Given the description of an element on the screen output the (x, y) to click on. 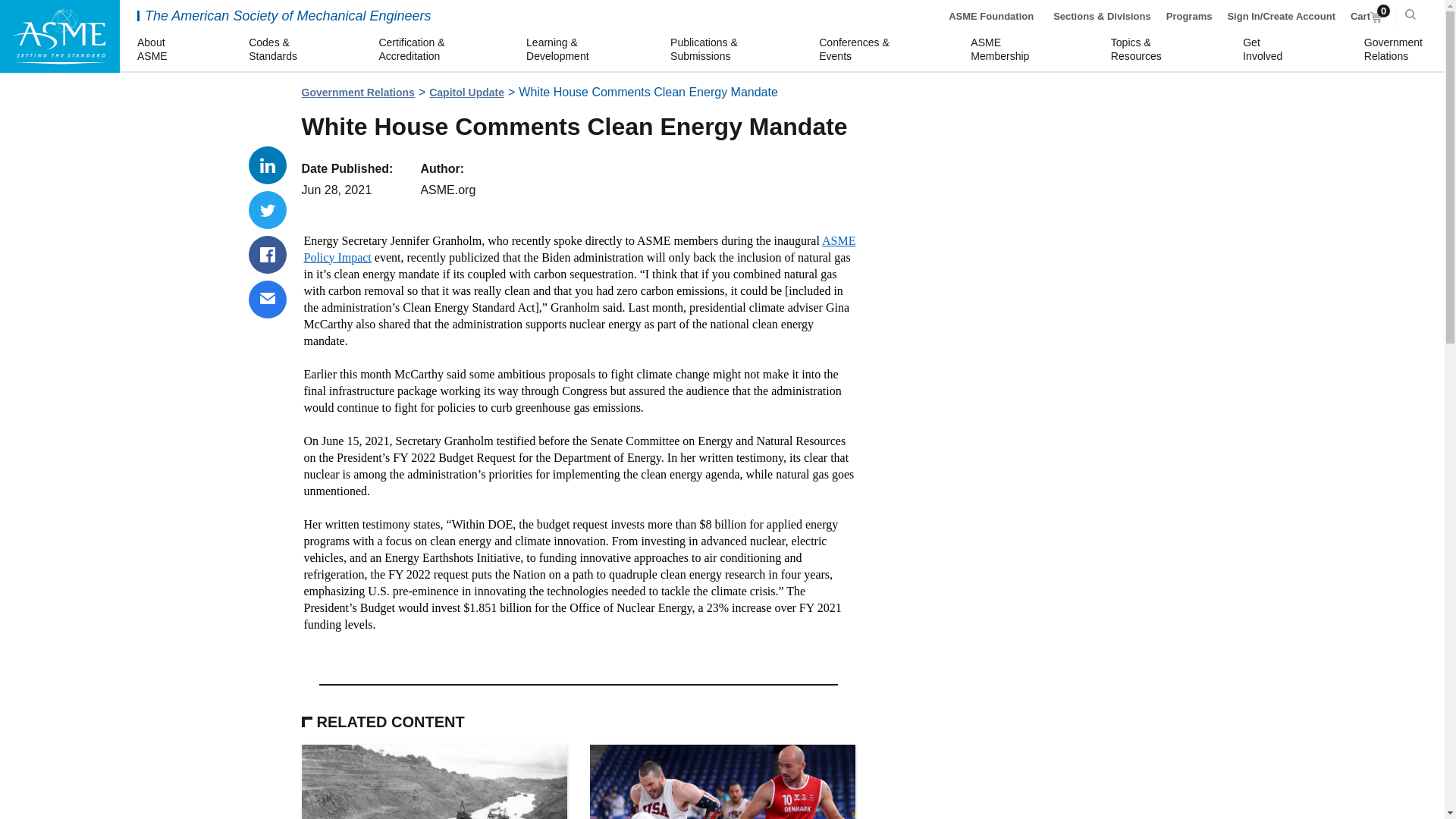
ASME Foundation (1002, 49)
Share on Facebook (1265, 49)
ASME (991, 16)
Programs (267, 254)
Government Relations (1395, 49)
